Given the description of an element on the screen output the (x, y) to click on. 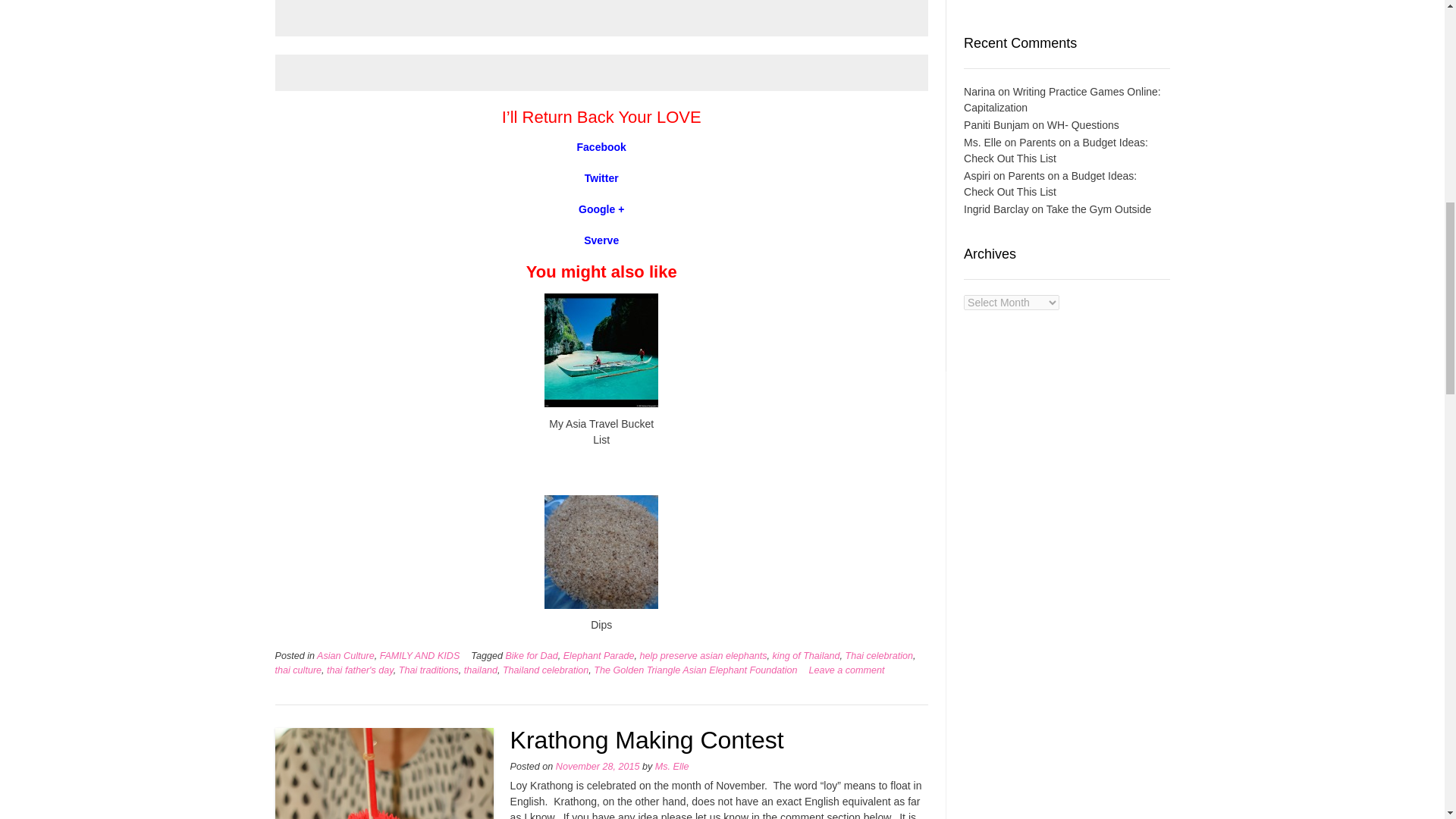
endorse me (600, 240)
MitchRyan's Blog fan Page (601, 146)
FAMILY AND KIDS (420, 655)
Thai celebration (878, 655)
king of Thailand (806, 655)
mitchryan (601, 209)
Krathong Making Contest (647, 739)
Bike for Dad (531, 655)
Leave a comment (845, 670)
Asian Culture (345, 655)
Thai traditions (428, 670)
Sverve (600, 240)
The Golden Triangle Asian Elephant Foundation (695, 670)
Ms. Elle (671, 766)
thailand (480, 670)
